Given the description of an element on the screen output the (x, y) to click on. 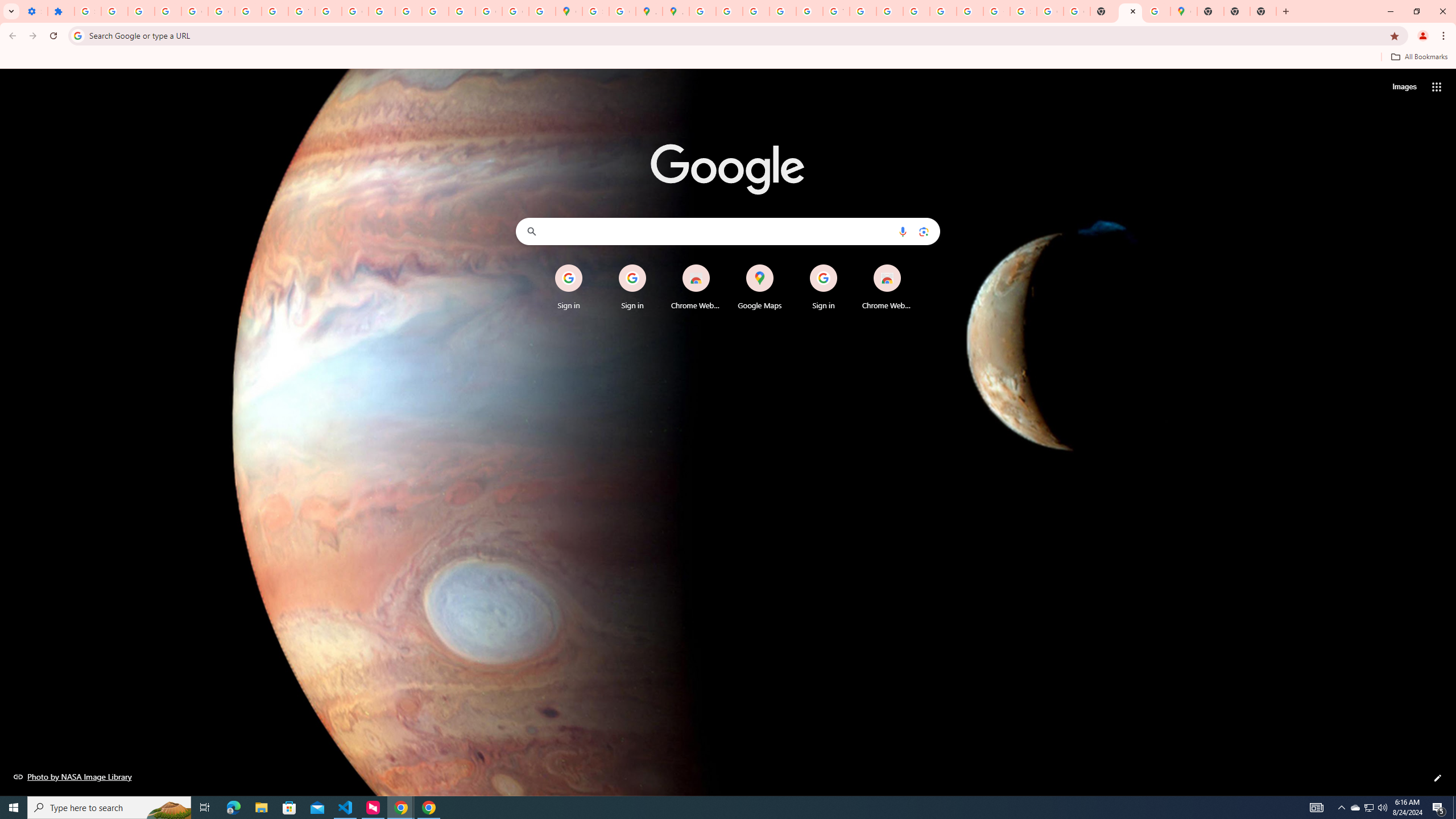
Chrome Web Store (887, 287)
Google Maps (569, 11)
Remove (909, 265)
Privacy Help Center - Policies Help (382, 11)
Sign in - Google Accounts (87, 11)
Delete photos & videos - Computer - Google Photos Help (114, 11)
Extensions (61, 11)
